Given the description of an element on the screen output the (x, y) to click on. 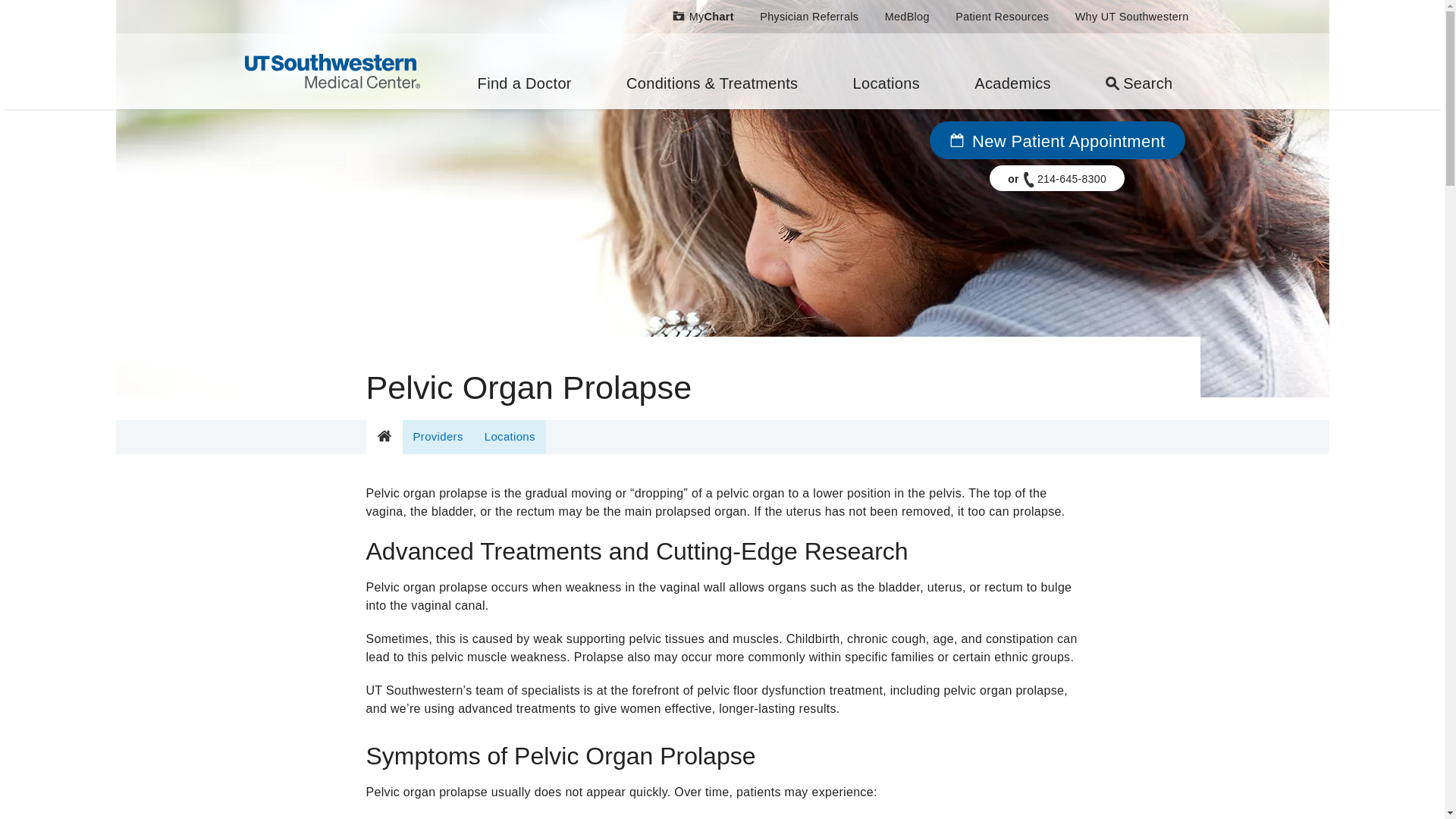
Academics (1012, 70)
Find a Doctor (523, 70)
MedBlog (906, 17)
Section Homepage (383, 436)
Locations (886, 70)
or Call214-645-8300 (1057, 177)
Visit the homepage (331, 69)
Appointment (956, 140)
Why UT Southwestern (1131, 17)
Search (1138, 70)
